Given the description of an element on the screen output the (x, y) to click on. 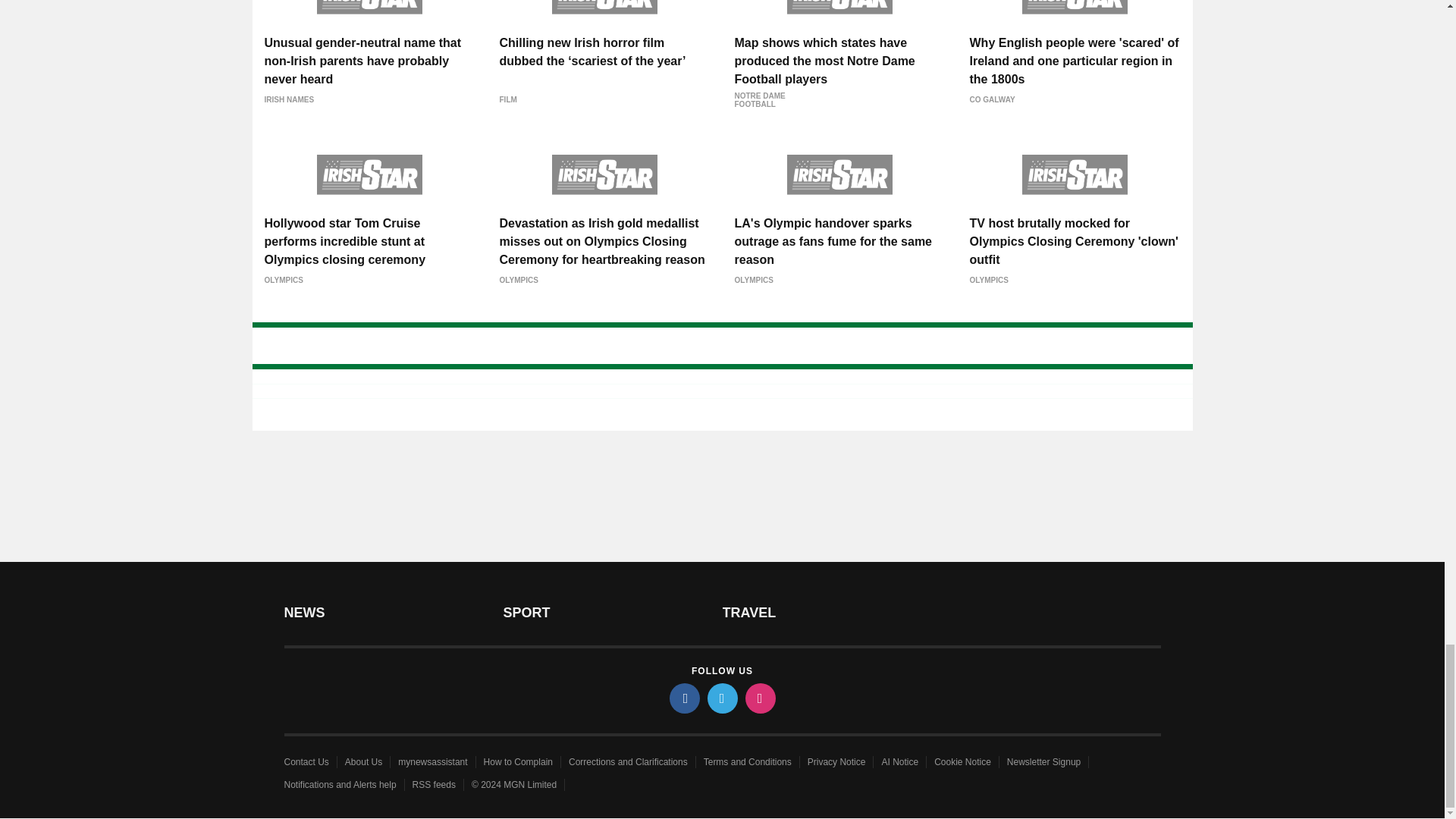
instagram (759, 698)
twitter (721, 698)
facebook (683, 698)
